Given the description of an element on the screen output the (x, y) to click on. 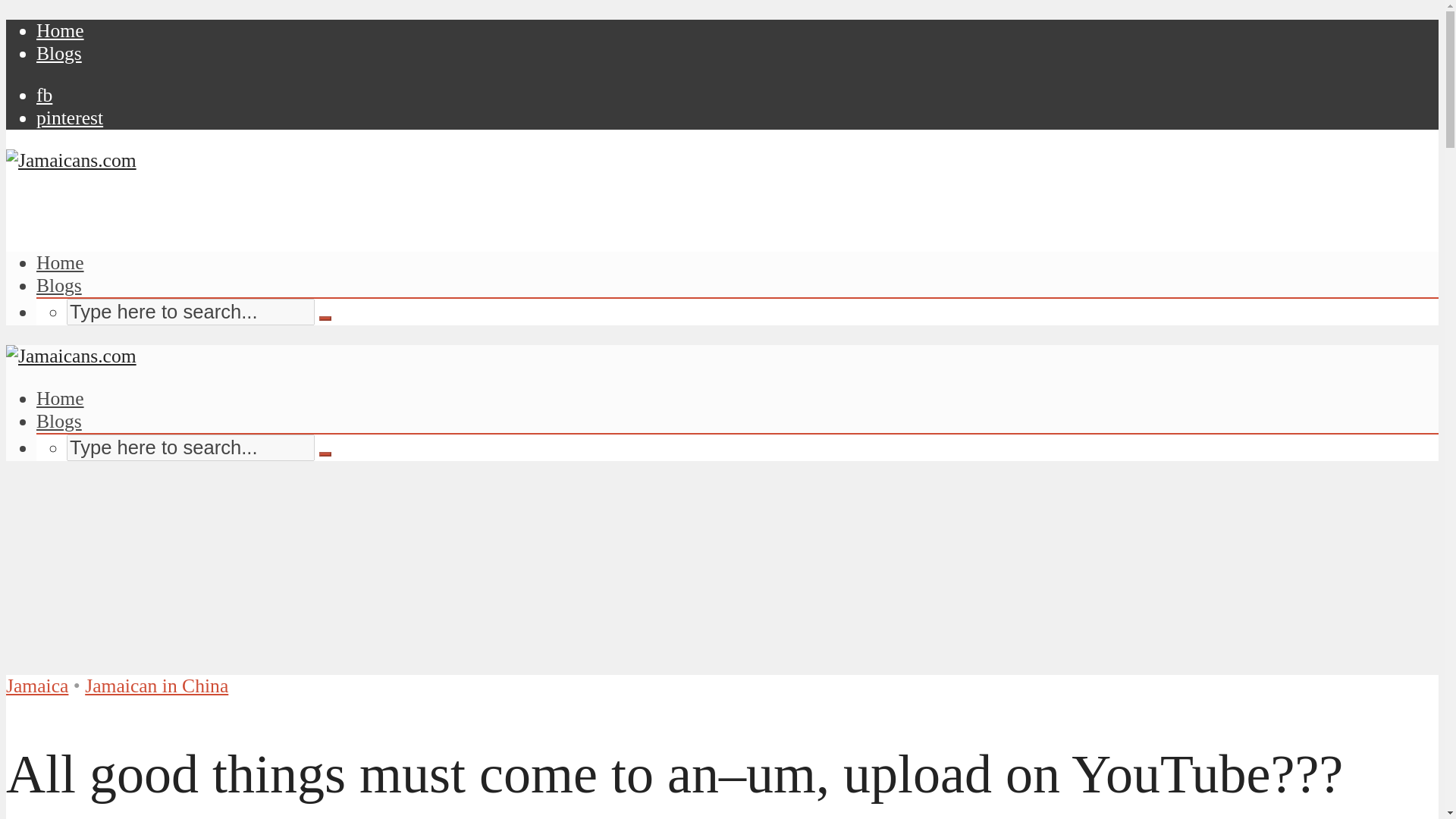
fb (44, 95)
pinterest (69, 117)
Type here to search... (190, 311)
Type here to search... (190, 447)
Blogs (58, 285)
Jamaica (36, 685)
Type here to search... (190, 311)
Home (60, 262)
Home (60, 30)
Blogs (58, 53)
Type here to search... (190, 447)
Jamaican in China (156, 685)
Blogs (58, 421)
Home (60, 398)
